Given the description of an element on the screen output the (x, y) to click on. 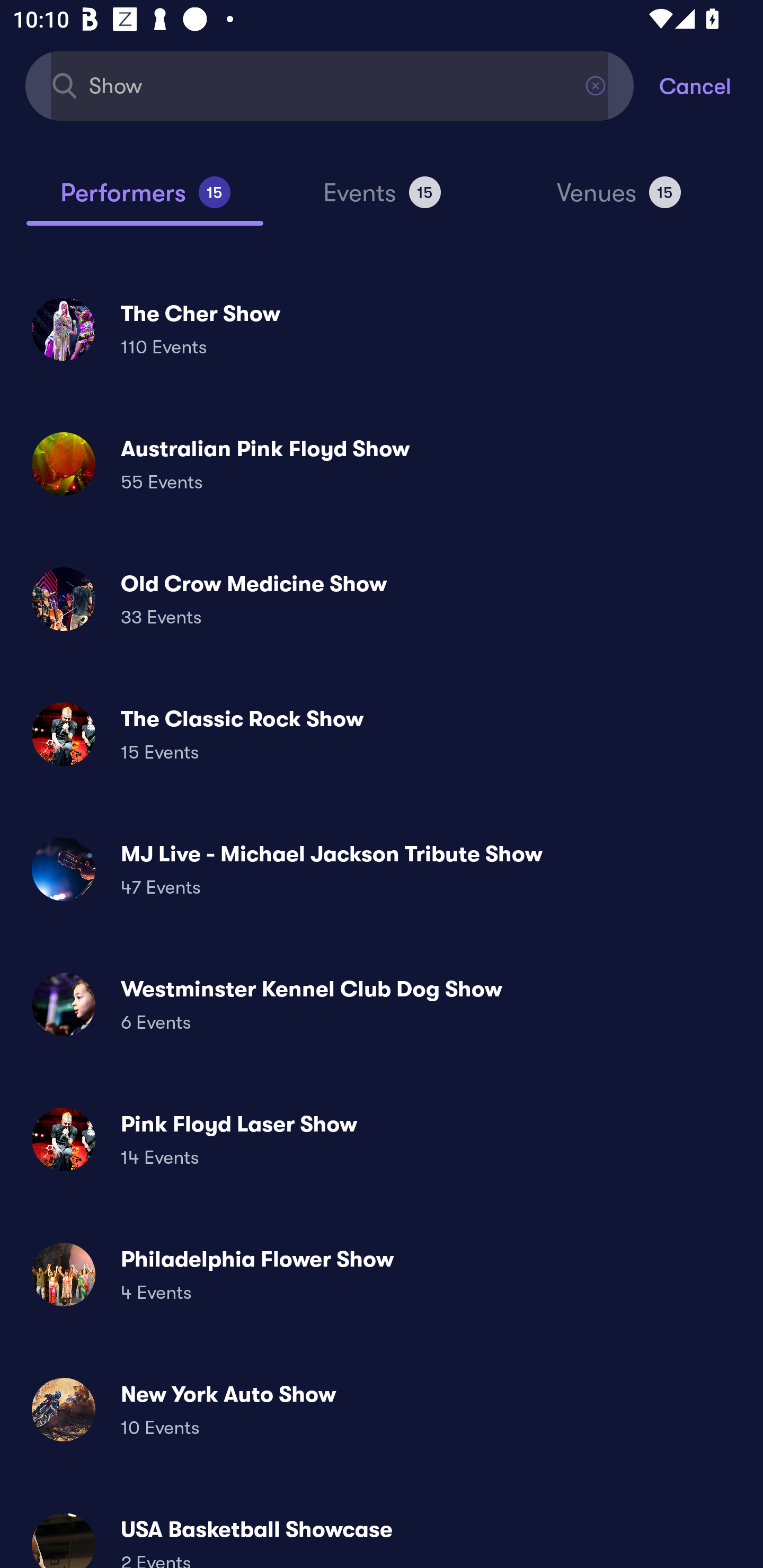
Show Find (329, 85)
Show Find (329, 85)
Cancel (711, 85)
Performers 15 (144, 200)
Events 15 (381, 200)
Venues 15 (618, 200)
The Cher Show 110 Events (381, 328)
Australian Pink Floyd Show 55 Events (381, 464)
Old Crow Medicine Show 33 Events (381, 598)
The Classic Rock Show 15 Events (381, 734)
MJ Live - Michael Jackson Tribute Show 47 Events (381, 869)
Westminster Kennel Club Dog Show 6 Events (381, 1004)
Pink Floyd Laser Show 14 Events (381, 1138)
Philadelphia Flower Show 4 Events (381, 1273)
New York Auto Show 10 Events (381, 1409)
USA Basketball Showcase 2 Events (381, 1532)
